Given the description of an element on the screen output the (x, y) to click on. 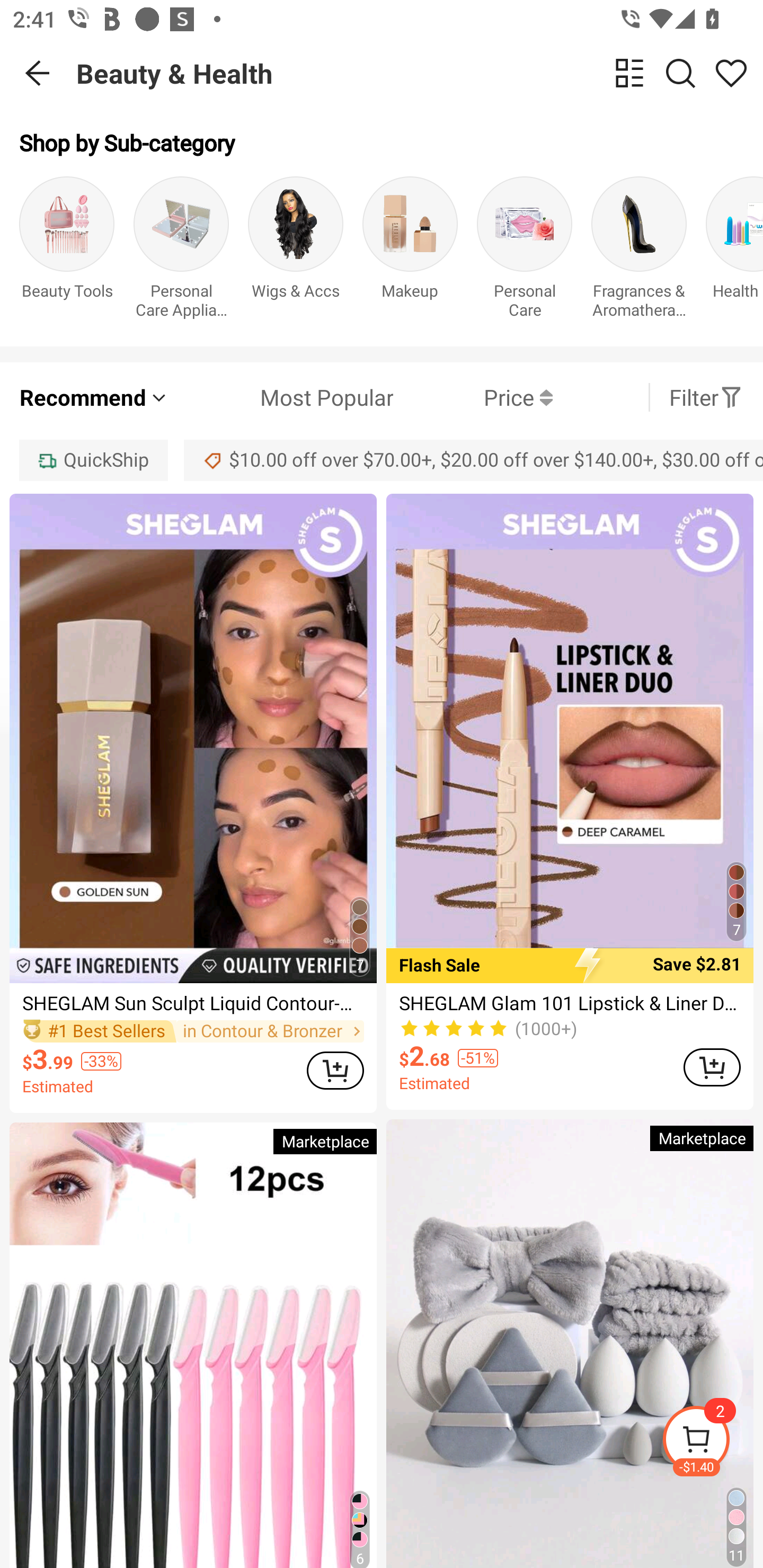
Beauty & Health change view Search Share (419, 72)
change view (629, 72)
Search (679, 72)
Share (730, 72)
Beauty Tools (66, 251)
Personal Care Appliance (180, 251)
Wigs & Accs (295, 251)
Makeup (409, 251)
Personal Care (524, 251)
Fragrances & Aromatherapy (638, 251)
Health Care (734, 251)
Recommend (94, 397)
Most Popular (280, 397)
Price (472, 397)
Filter (705, 397)
QuickShip (93, 460)
#1 Best Sellers in Contour & Bronzer (192, 1031)
ADD TO CART (711, 1067)
ADD TO CART (334, 1070)
-$1.40 (712, 1441)
